Given the description of an element on the screen output the (x, y) to click on. 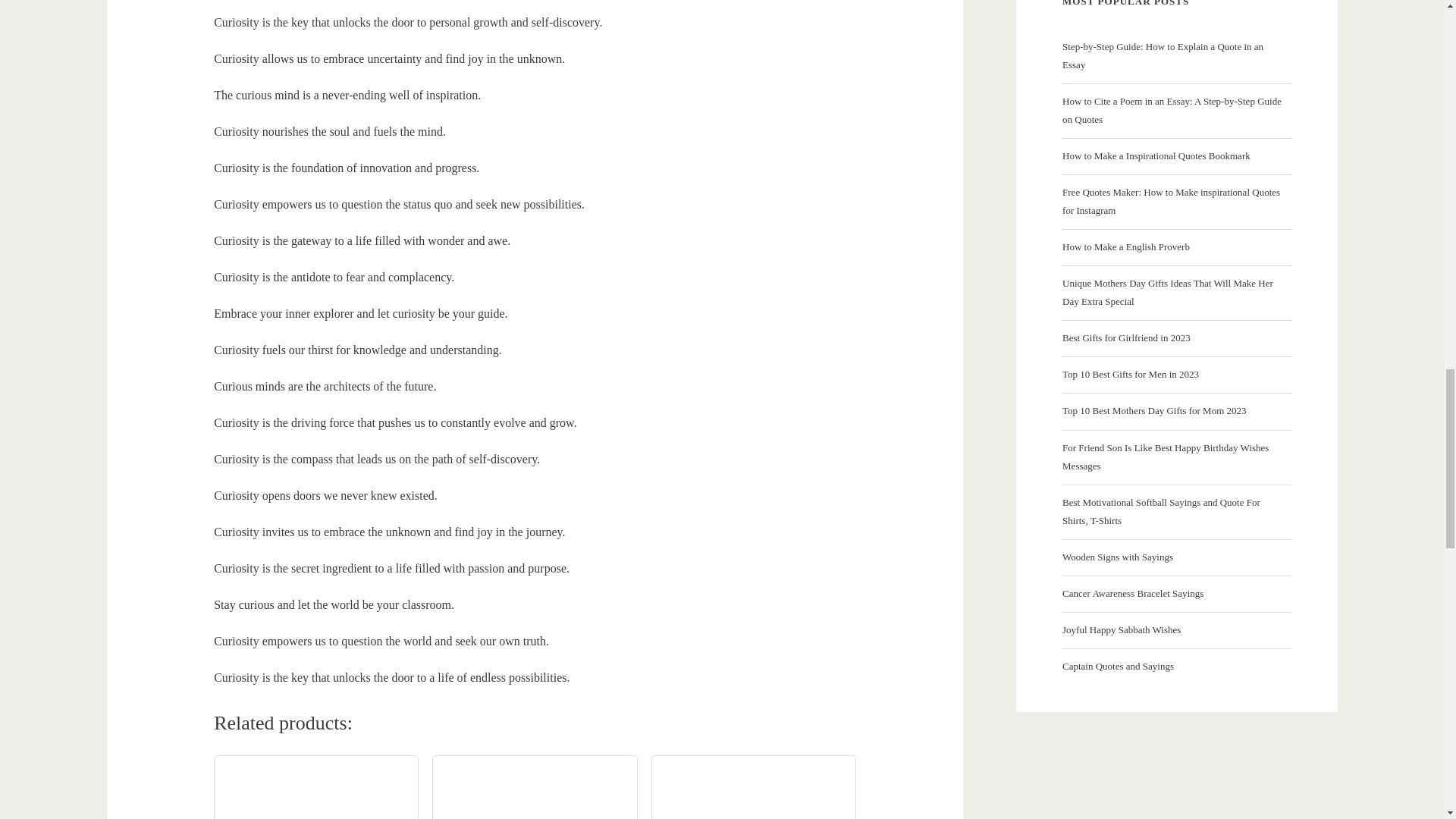
Swan Song (534, 792)
Remarkably Bright Creatures: A Novel (316, 792)
